Given the description of an element on the screen output the (x, y) to click on. 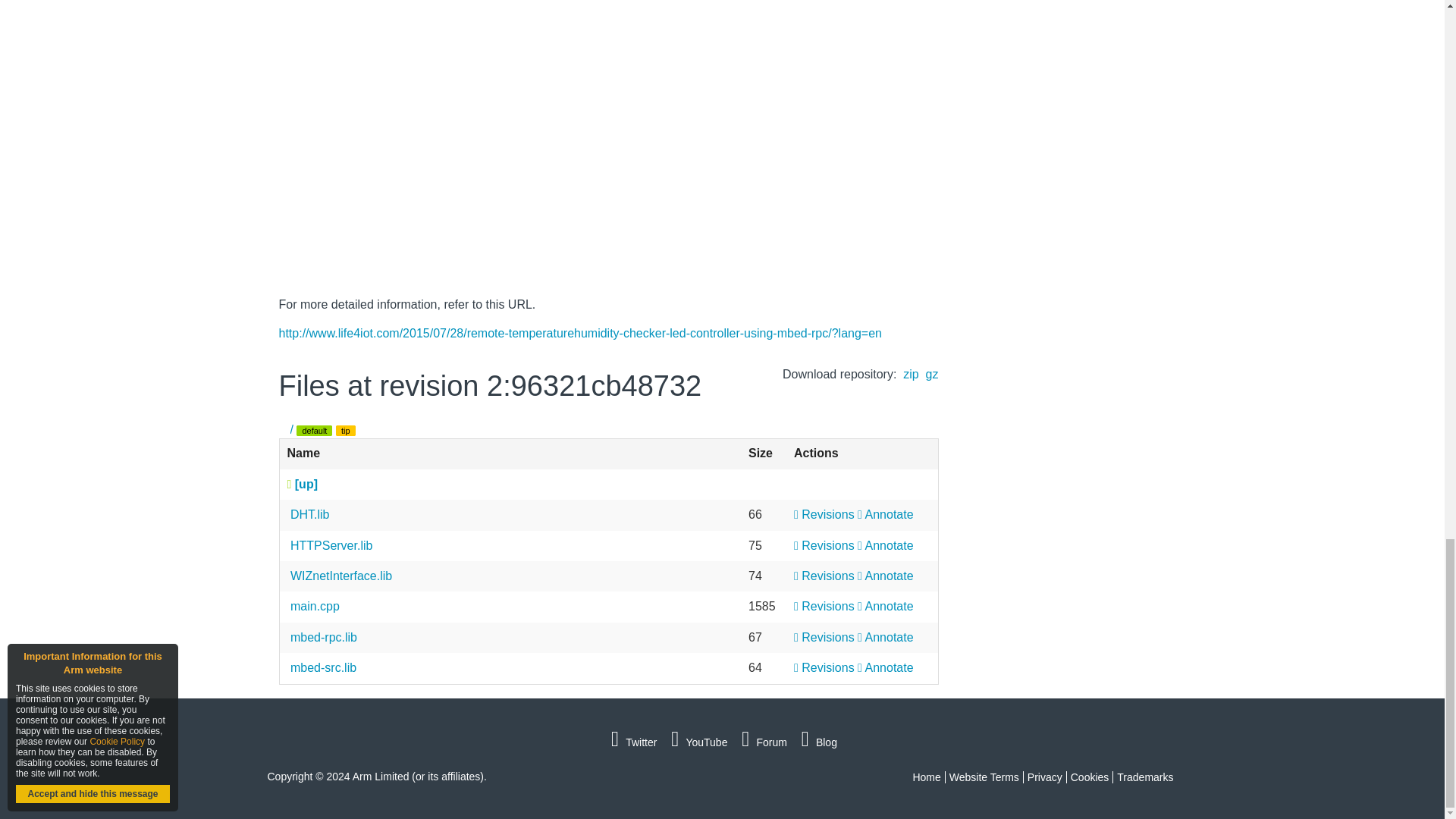
Blog (817, 742)
YouTube (696, 742)
default (314, 430)
Forum (761, 742)
tip (345, 430)
Twitter (632, 742)
